Given the description of an element on the screen output the (x, y) to click on. 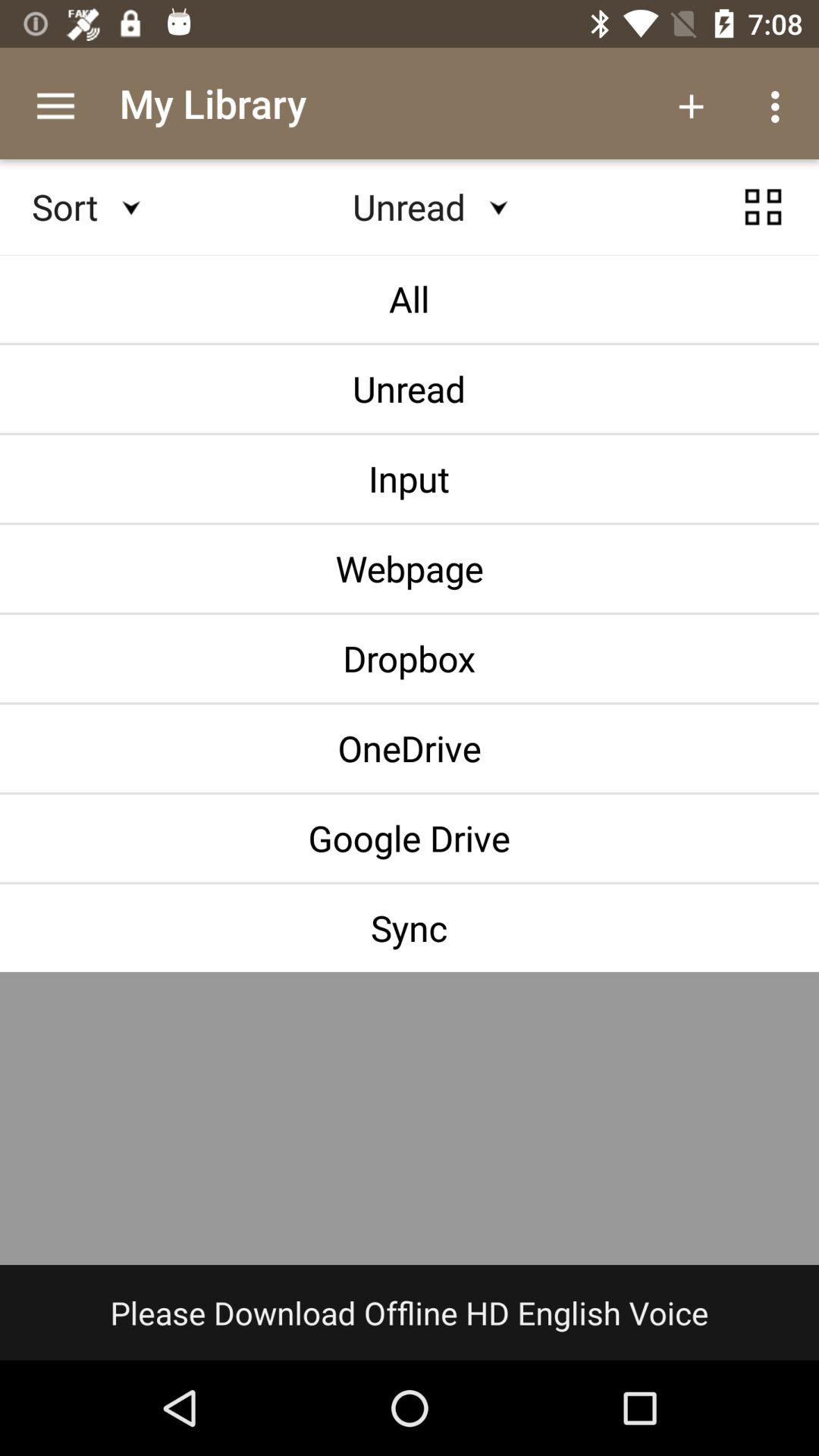
click on the icon to the right side of unread (763, 206)
